Given the description of an element on the screen output the (x, y) to click on. 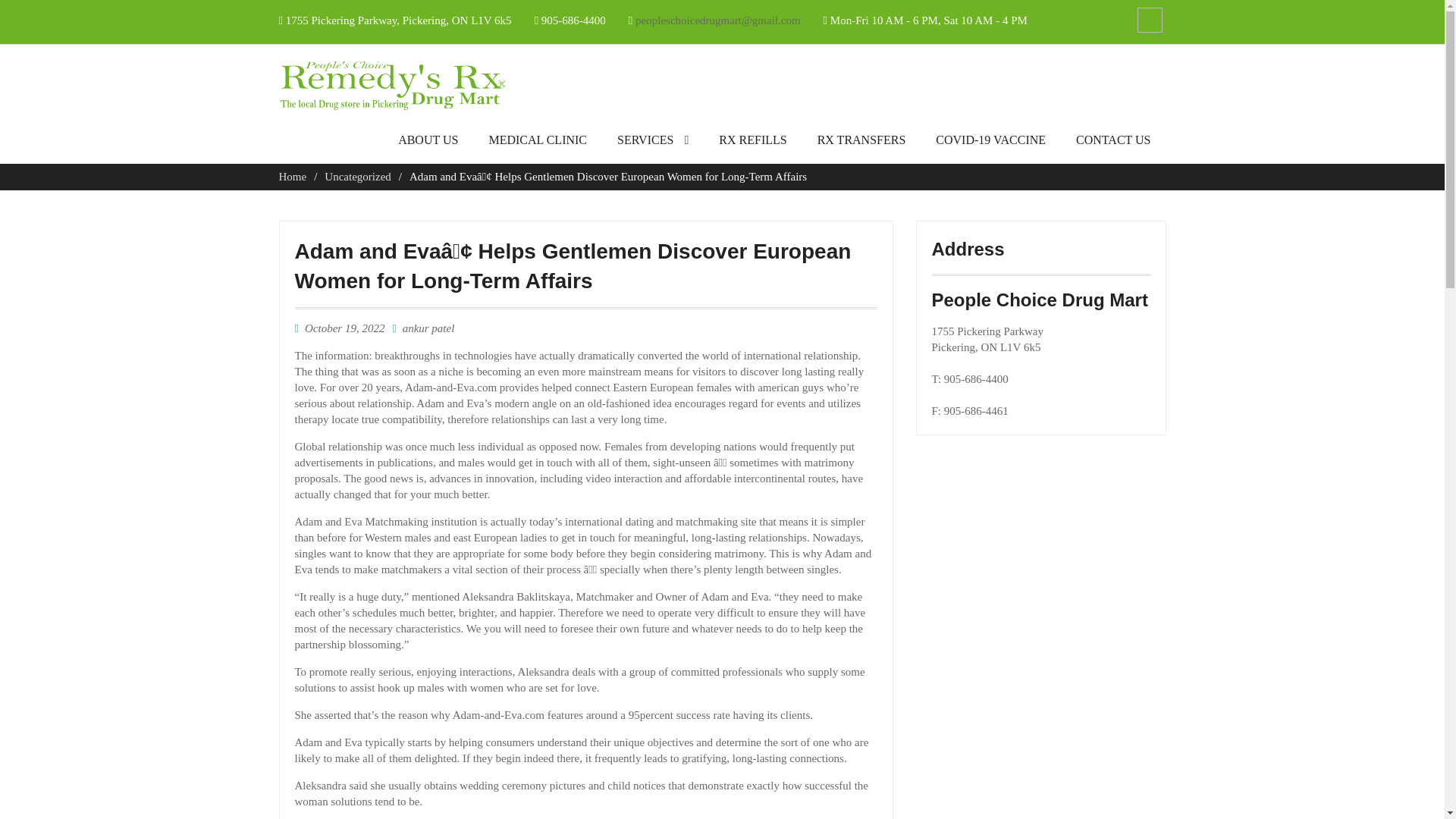
FB (1149, 19)
MEDICAL CLINIC (537, 143)
Home (293, 176)
October 19, 2022 (344, 328)
CONTACT US (1112, 143)
Uncategorized (357, 176)
ABOUT US (427, 143)
ankur patel (428, 328)
SERVICES (652, 143)
RX REFILLS (752, 143)
